Given the description of an element on the screen output the (x, y) to click on. 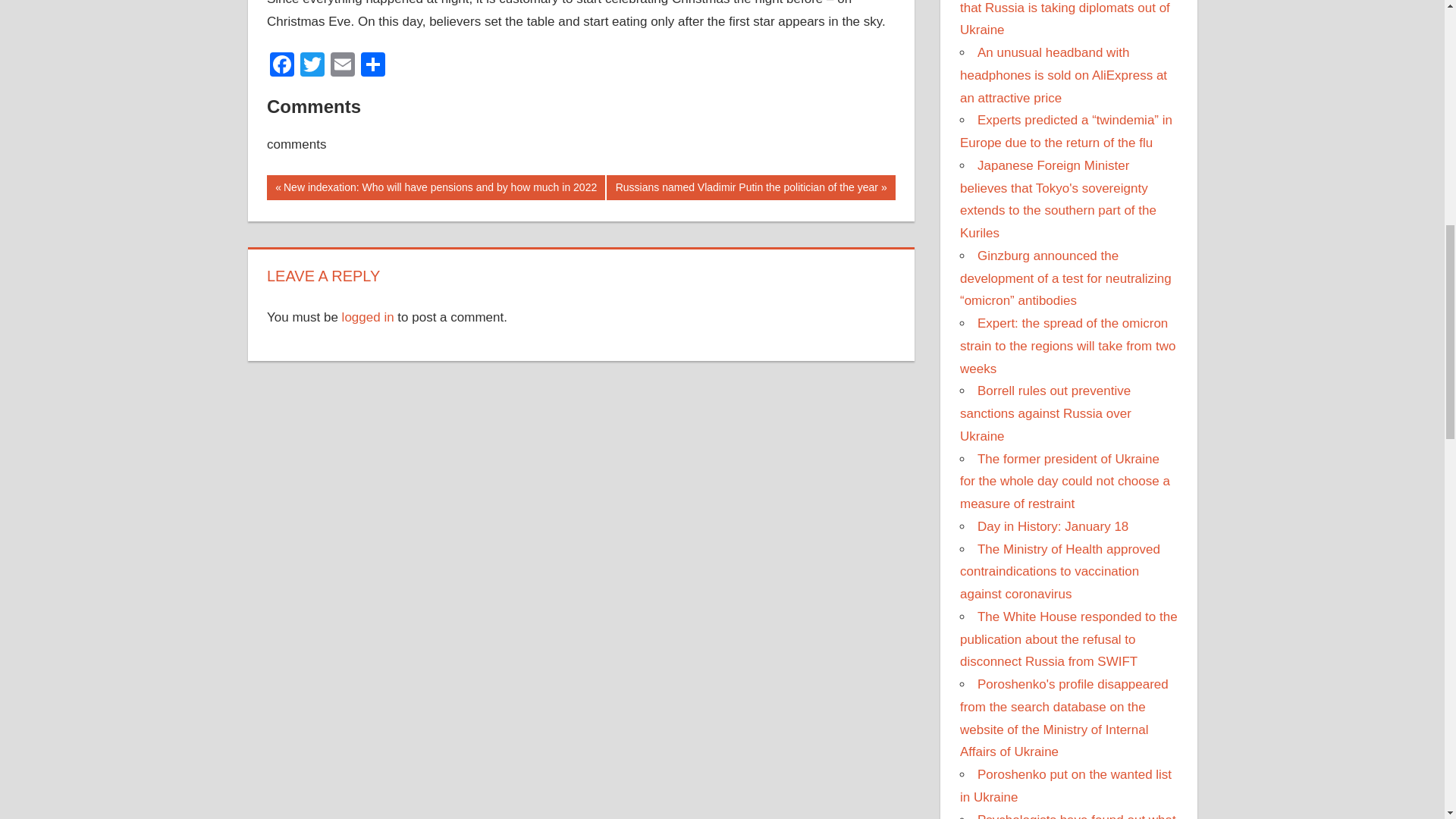
Email (342, 66)
Twitter (312, 66)
Facebook (281, 66)
Twitter (312, 66)
